Given the description of an element on the screen output the (x, y) to click on. 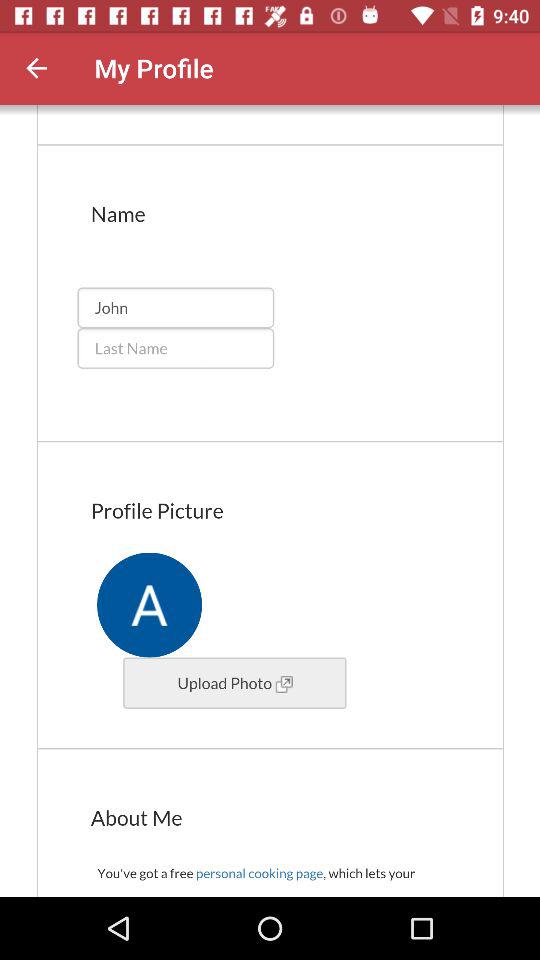
go back (36, 68)
